Given the description of an element on the screen output the (x, y) to click on. 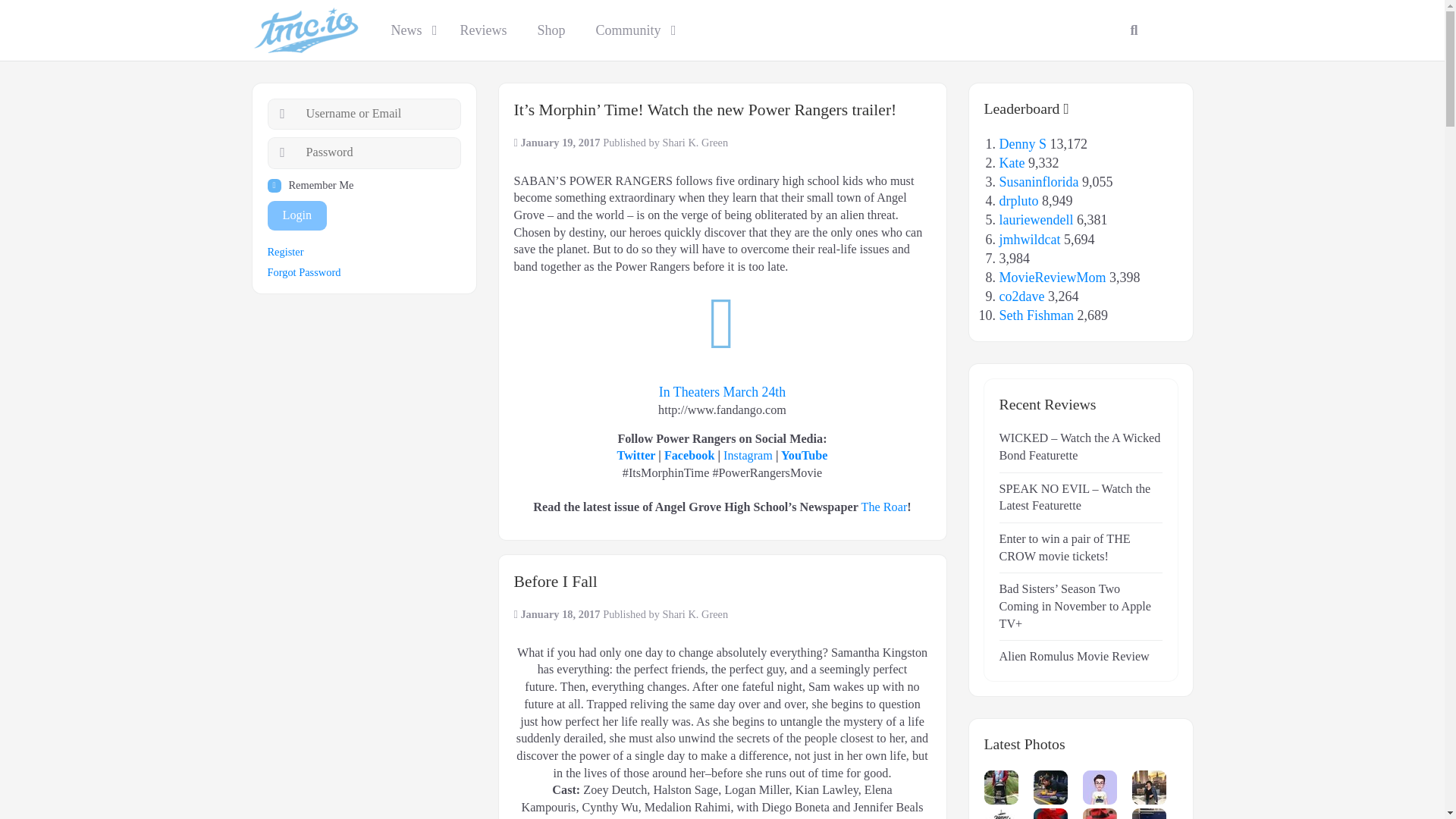
Reviews (482, 30)
News (410, 30)
Community (632, 30)
January 19, 2017 (560, 142)
Shop (550, 30)
Shari K. Green (695, 142)
